Given the description of an element on the screen output the (x, y) to click on. 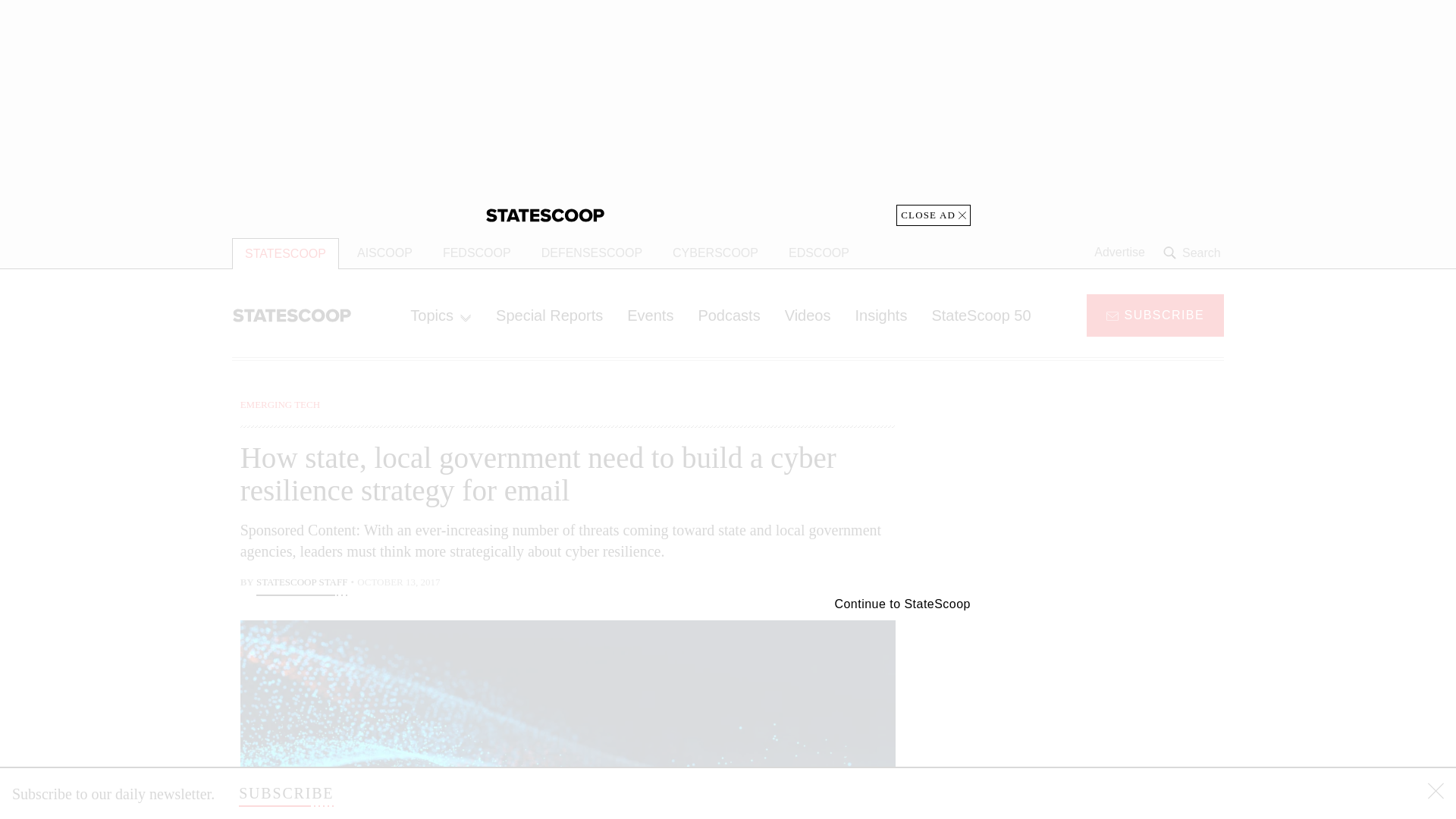
STATESCOOP STAFF (301, 583)
Topics (440, 315)
SUBSCRIBE (285, 793)
StateScoop 50 (980, 315)
SUBSCRIBE (1155, 314)
EDSCOOP (818, 253)
Events (649, 315)
AISCOOP (385, 253)
Videos (808, 315)
